Given the description of an element on the screen output the (x, y) to click on. 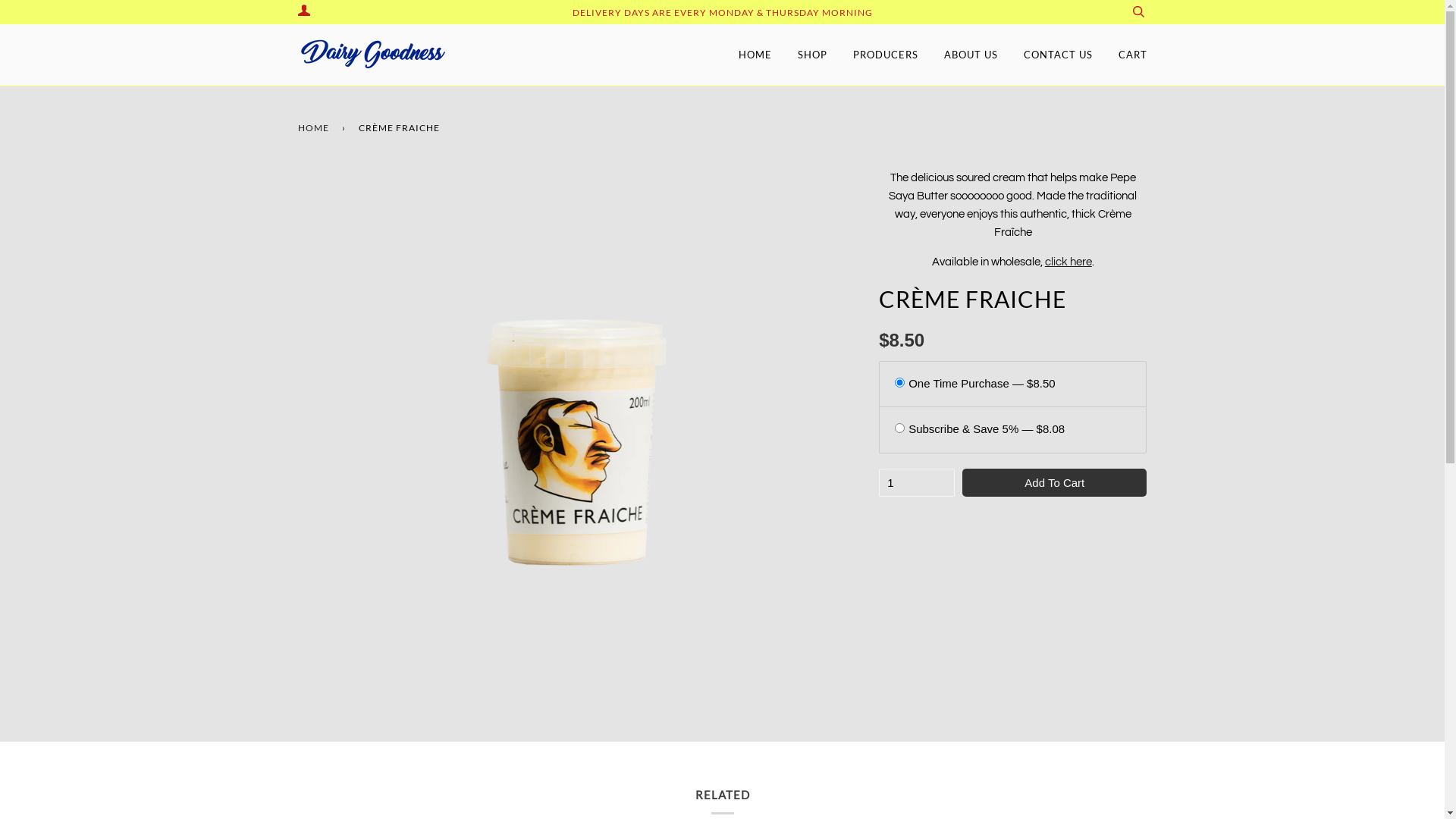
ABOUT US Element type: text (970, 54)
SHOP Element type: text (812, 54)
PRODUCERS Element type: text (884, 54)
CART Element type: text (1131, 54)
CONTACT US Element type: text (1057, 54)
click here Element type: text (1068, 261)
DELIVERY DAYS ARE EVERY MONDAY & THURSDAY MORNING Element type: text (721, 12)
HOME Element type: text (315, 127)
Add To Cart Element type: text (1054, 482)
HOME Element type: text (754, 54)
